Given the description of an element on the screen output the (x, y) to click on. 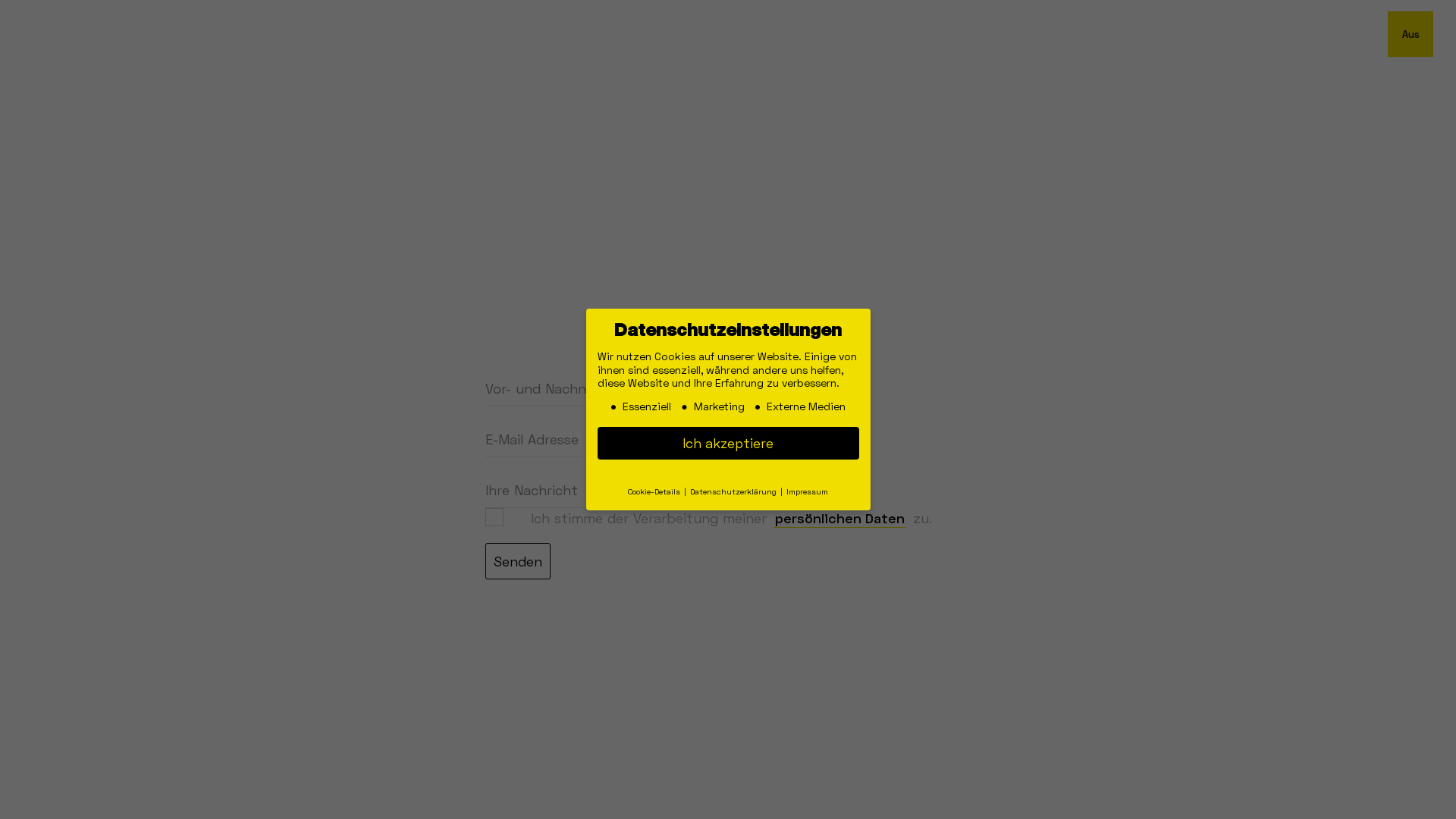
Agentur Element type: text (335, 344)
Schreiben Sie uns Element type: text (727, 43)
Impressum Element type: text (807, 491)
Individuelle Datenschutzeinstellungen Element type: text (727, 475)
Events Element type: text (320, 432)
Cookie-Details Element type: text (653, 491)
Ich akzeptiere Element type: text (728, 443)
Familie Element type: text (324, 519)
Kontakt Element type: text (333, 606)
Senden Element type: text (517, 560)
Home Element type: text (307, 256)
